Given the description of an element on the screen output the (x, y) to click on. 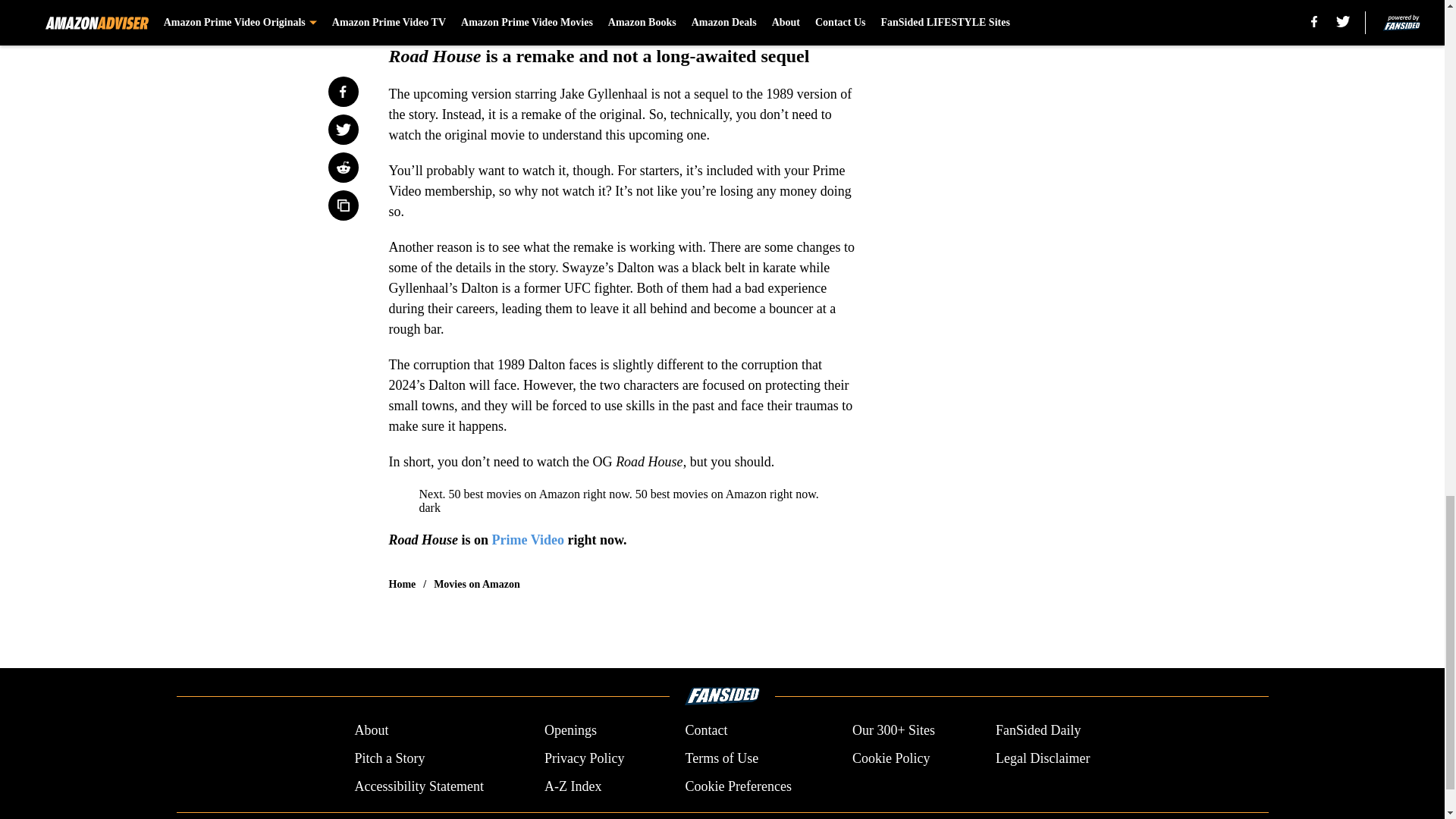
A-Z Index (572, 786)
Legal Disclaimer (1042, 758)
Movies on Amazon (476, 584)
Terms of Use (721, 758)
Privacy Policy (584, 758)
Contact (705, 730)
Home (401, 584)
Openings (570, 730)
Cookie Policy (890, 758)
Pitch a Story (389, 758)
